Given the description of an element on the screen output the (x, y) to click on. 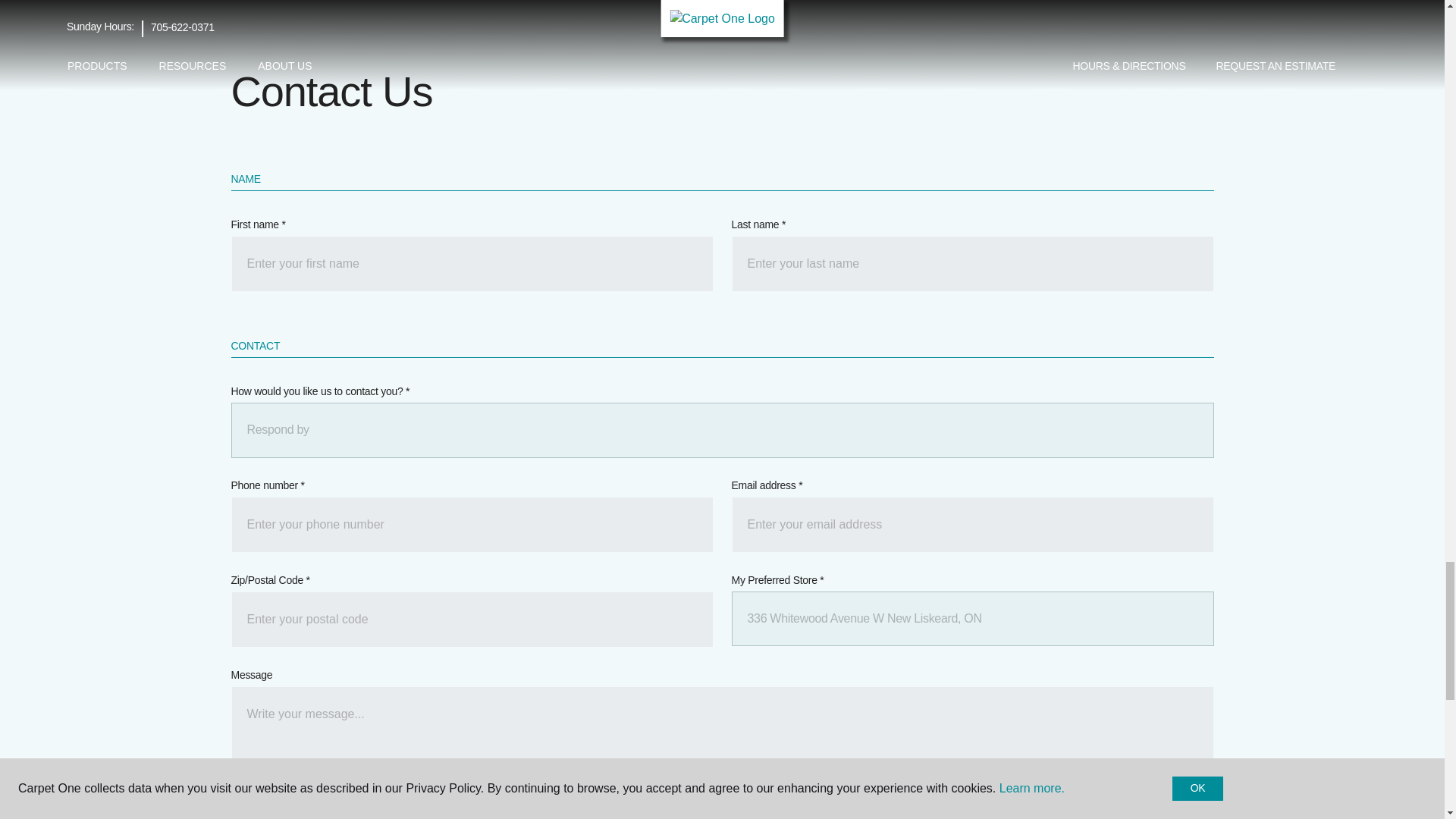
LastName (971, 263)
CleanHomePhone (471, 524)
PostalCode (471, 619)
EmailAddress (971, 524)
MyMessage (721, 732)
FirstName (471, 263)
